Given the description of an element on the screen output the (x, y) to click on. 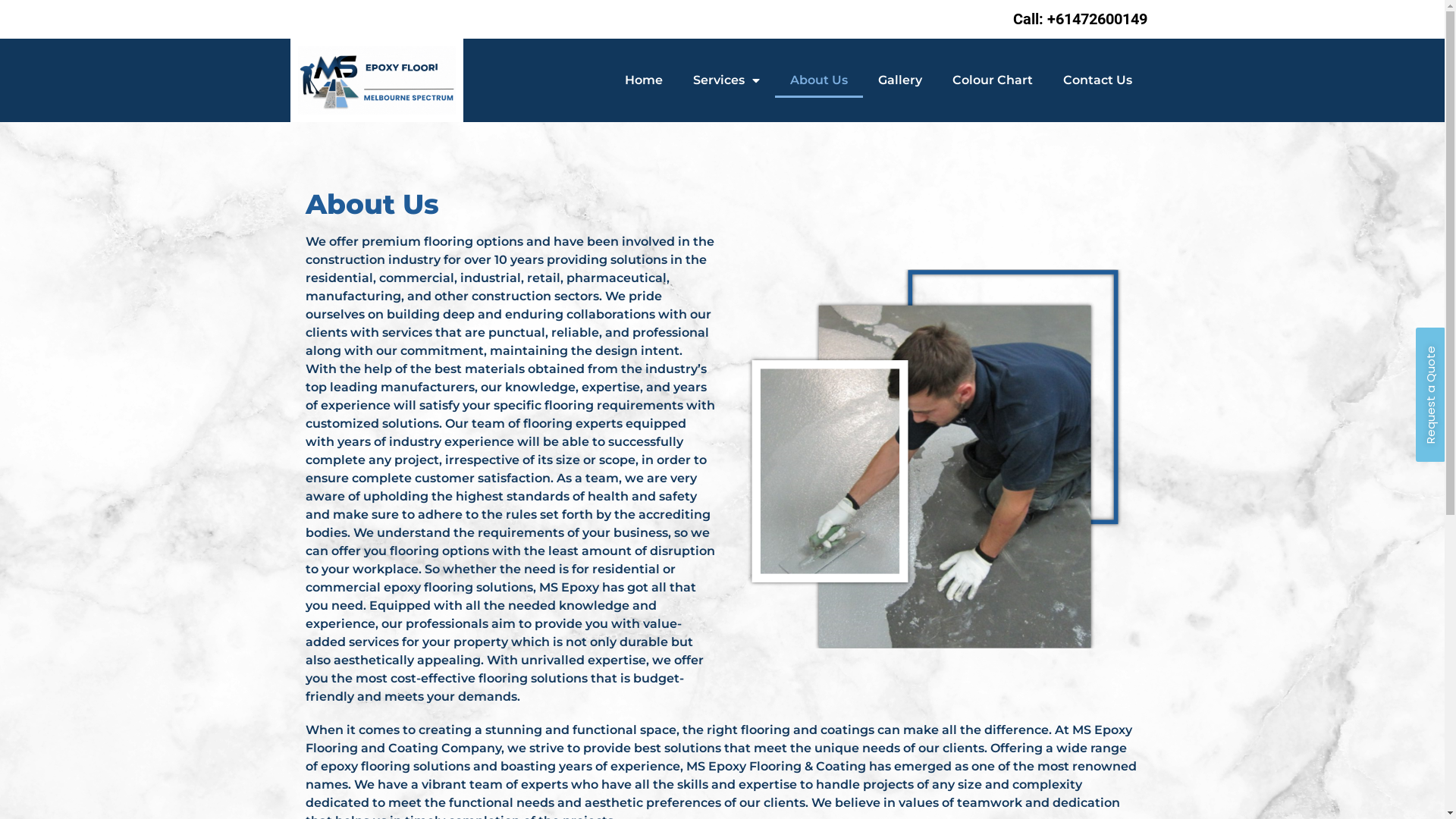
about us section picture Element type: hover (933, 458)
Contact Us Element type: text (1097, 79)
Colour Chart Element type: text (992, 79)
Gallery Element type: text (899, 79)
Home Element type: text (643, 79)
Services Element type: text (726, 79)
About Us Element type: text (818, 79)
Call: +61472600149 Element type: text (1080, 18)
